Given the description of an element on the screen output the (x, y) to click on. 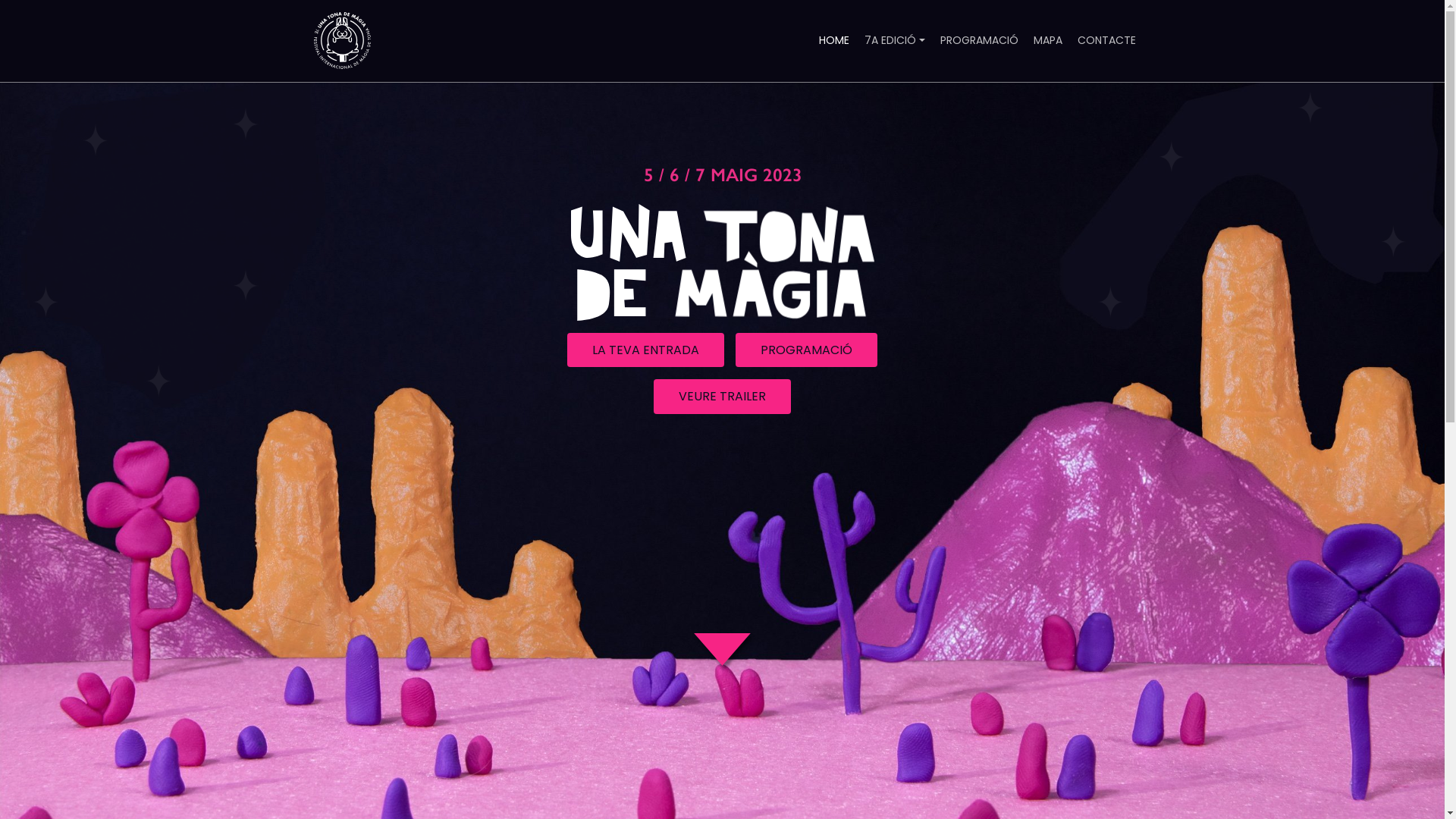
LA TEVA ENTRADA Element type: text (645, 349)
VEURE TRAILER Element type: text (721, 396)
HOME Element type: text (833, 40)
CONTACTE Element type: text (1105, 40)
MAPA Element type: text (1047, 40)
